Given the description of an element on the screen output the (x, y) to click on. 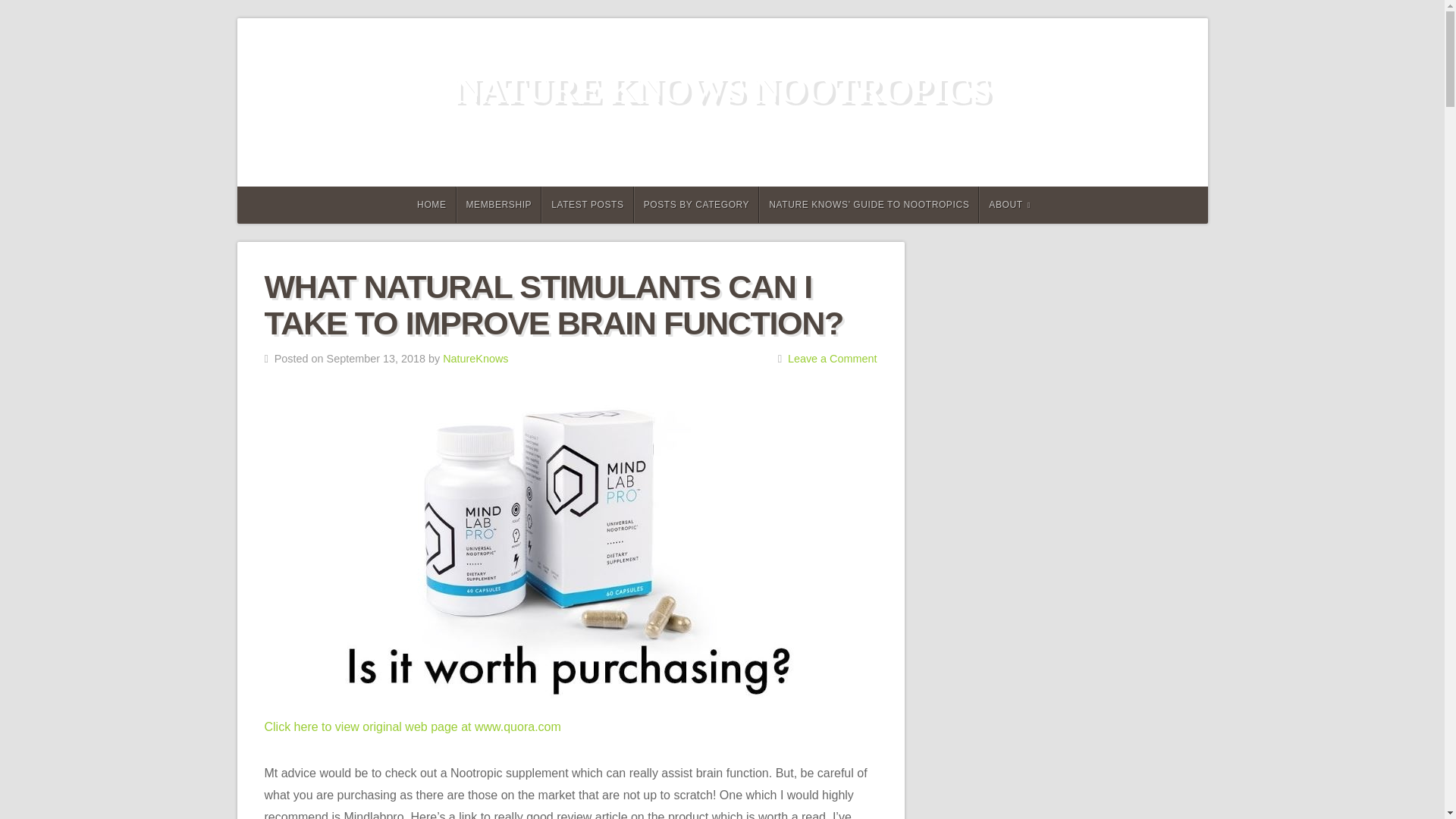
LATEST POSTS (587, 204)
POSTS BY CATEGORY (696, 204)
Leave a Comment (832, 357)
Click here to view original web page at www.quora.com (411, 726)
ABOUT (1008, 204)
Leave a Comment (832, 357)
HOME (429, 204)
NatureKnows (475, 357)
MEMBERSHIP (499, 204)
NATURE KNOWS NOOTROPICS (722, 89)
